Given the description of an element on the screen output the (x, y) to click on. 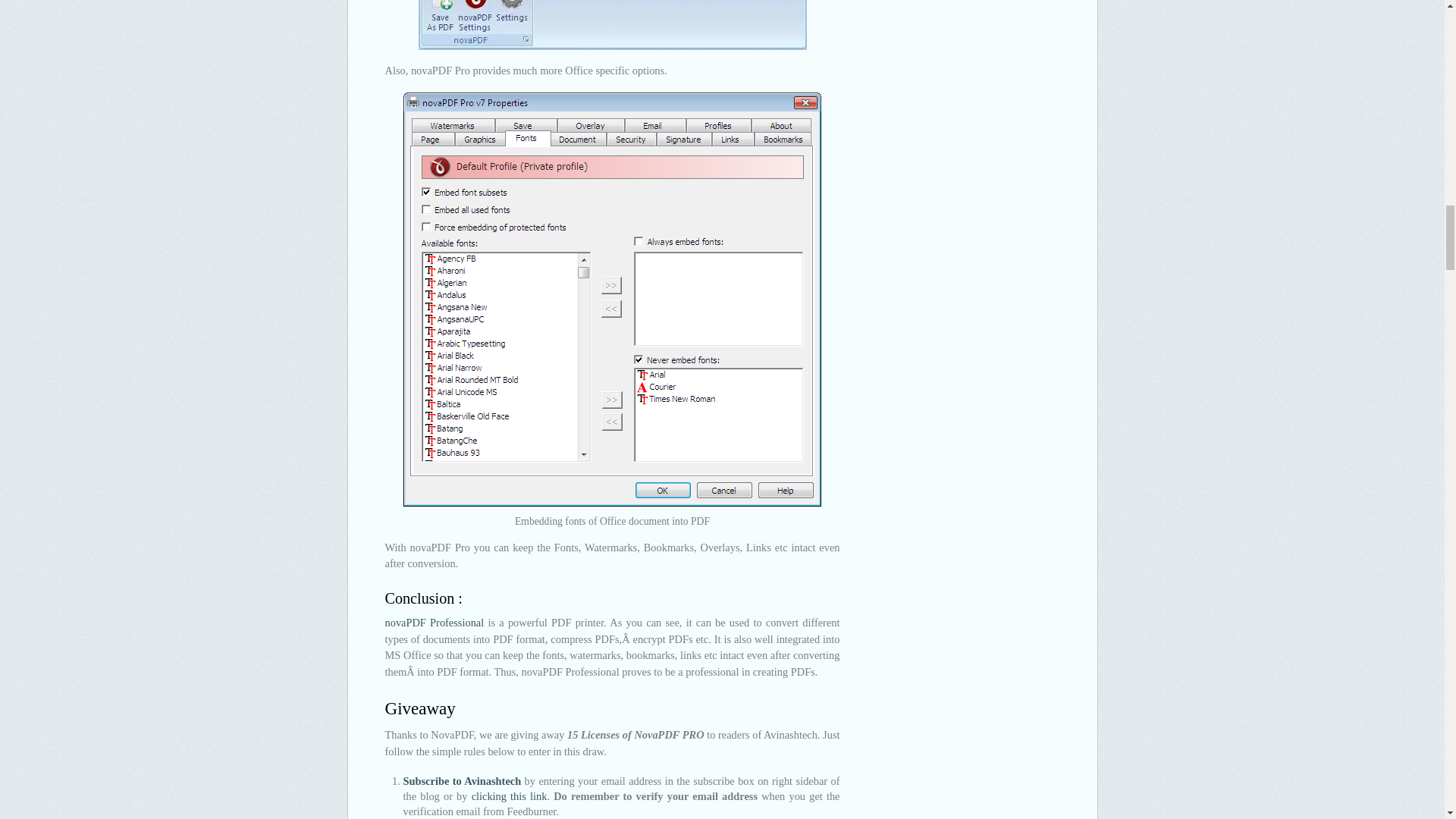
novaPDF Professional (434, 622)
clicking this link (509, 796)
Subscribe to Avinashtech (462, 780)
